Given the description of an element on the screen output the (x, y) to click on. 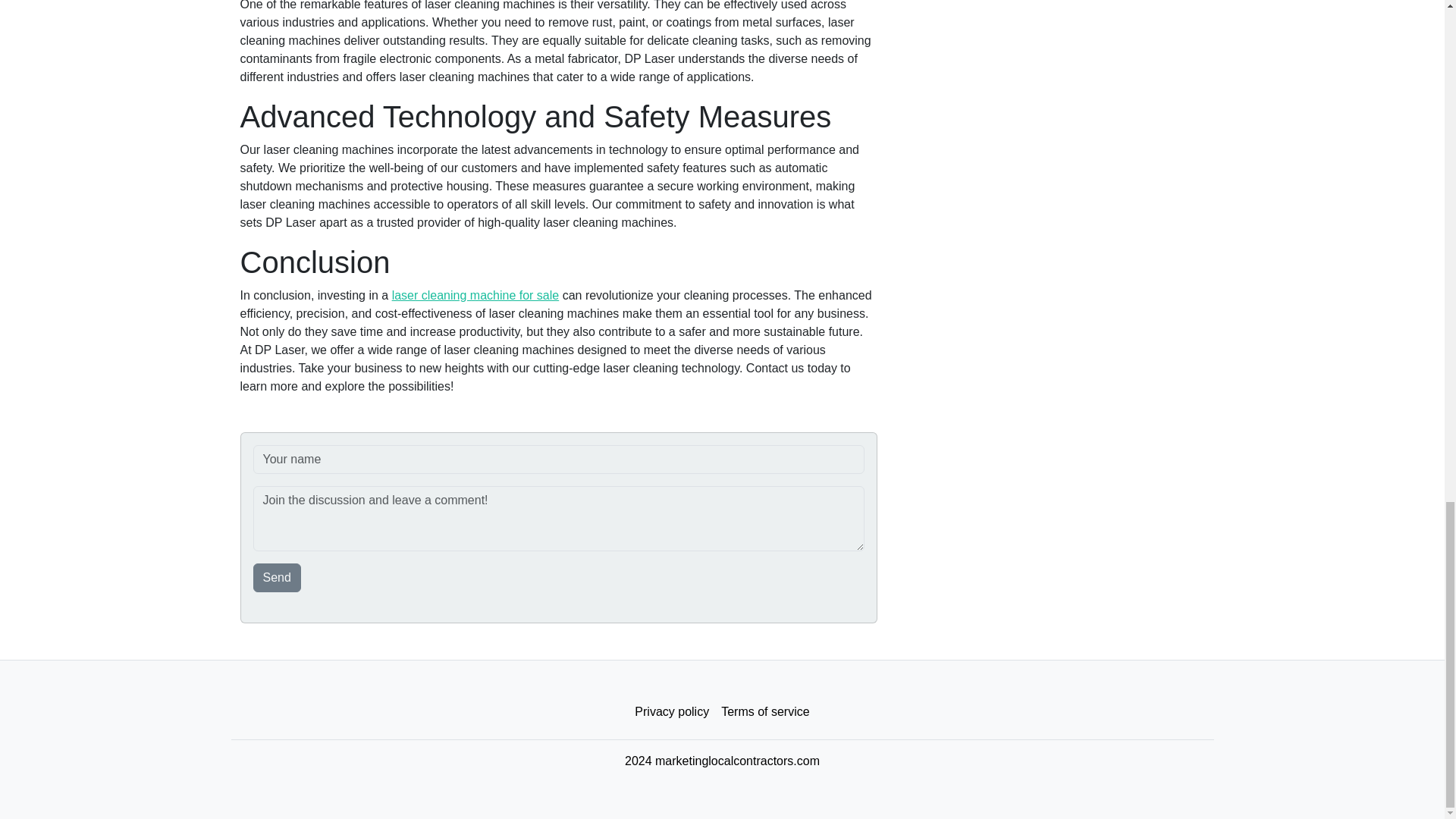
Send (277, 577)
Terms of service (764, 711)
Send (277, 577)
laser cleaning machine for sale (475, 295)
Privacy policy (671, 711)
